Given the description of an element on the screen output the (x, y) to click on. 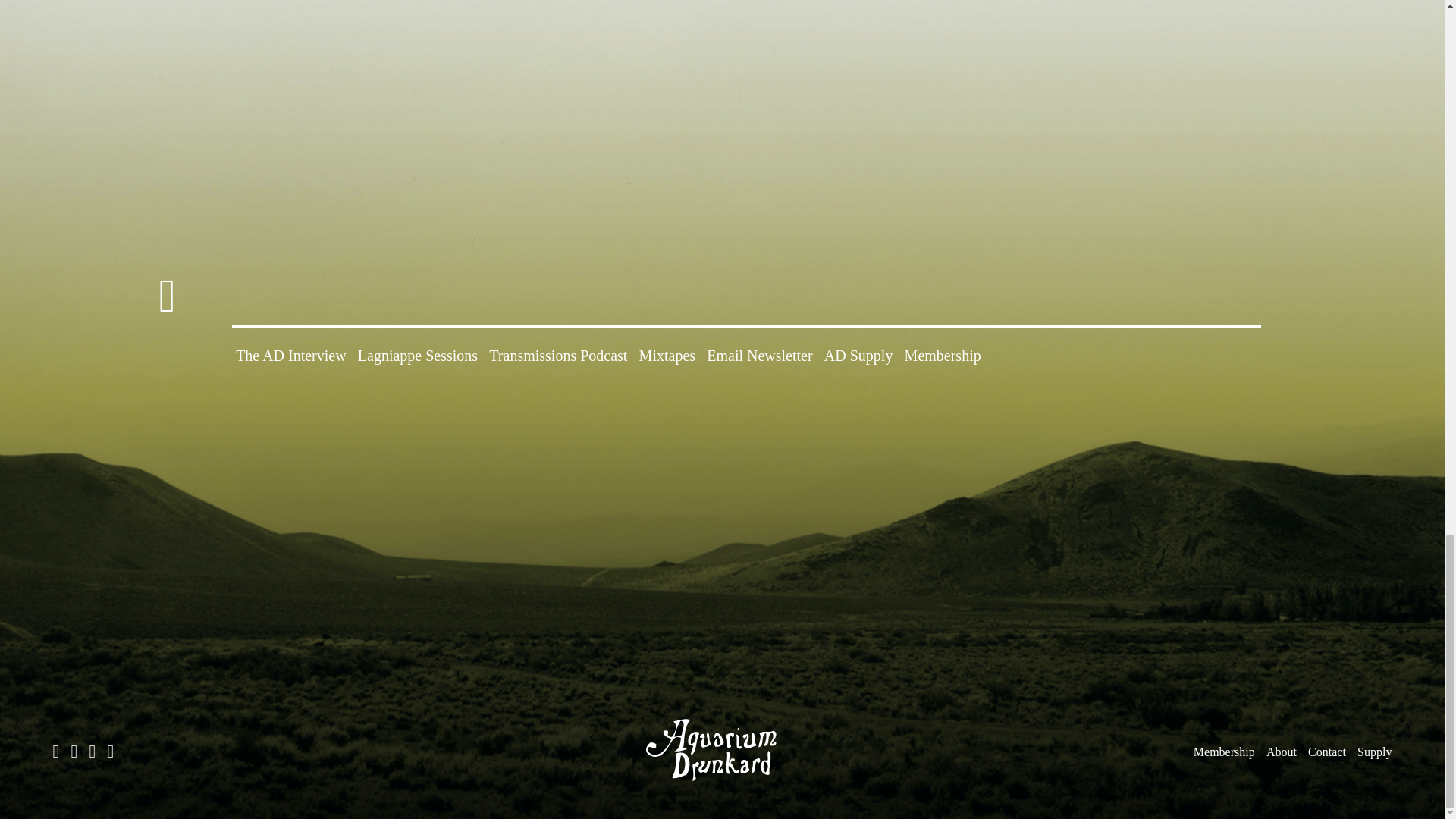
Membership (1224, 751)
Membership (942, 355)
Contact Aquarium Drunkard (1326, 751)
AD Supply (858, 355)
Lagniappe Sessions (417, 355)
Aquarium Drunkard Merch Shop (1373, 751)
Aquarium Drunkard (721, 784)
Email Newsletter (759, 355)
The AD Interview (290, 355)
Transmissions Podcast (558, 355)
About Aquarium Drunkard (1281, 751)
Aquarium Drunkard (721, 750)
Mixtapes (667, 355)
